Given the description of an element on the screen output the (x, y) to click on. 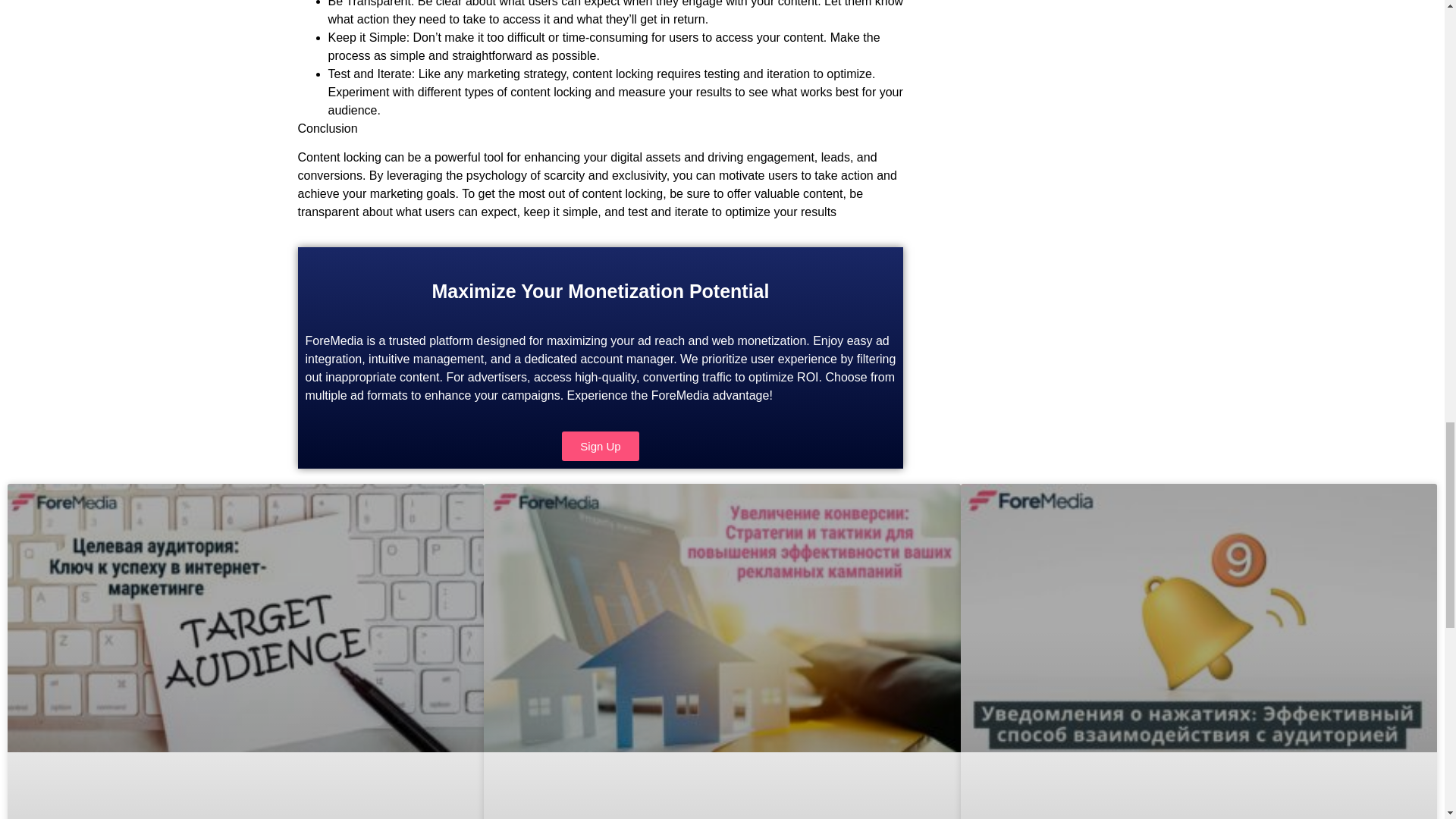
Sign Up (600, 446)
